Given the description of an element on the screen output the (x, y) to click on. 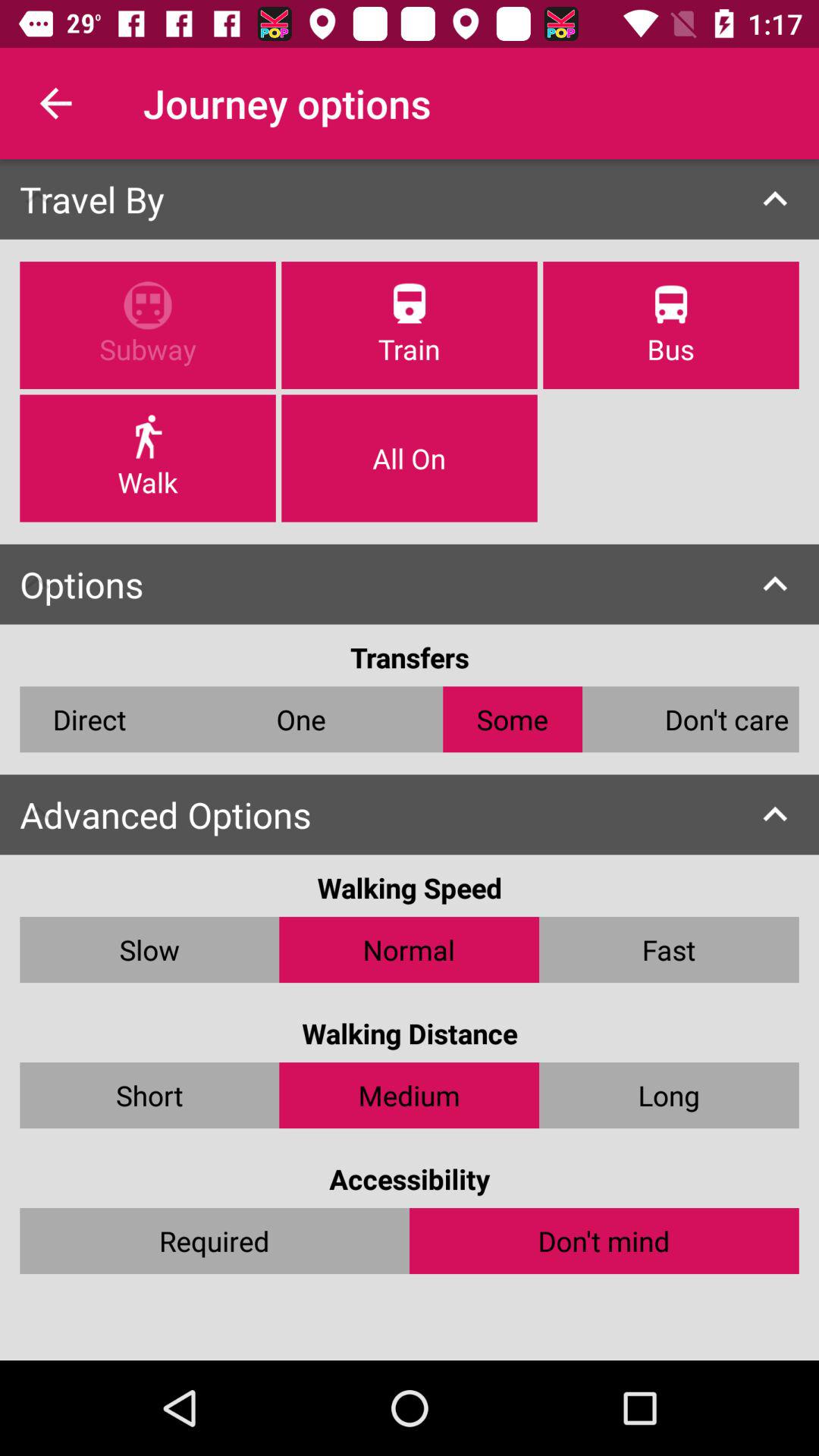
press icon below the transfers (512, 719)
